Given the description of an element on the screen output the (x, y) to click on. 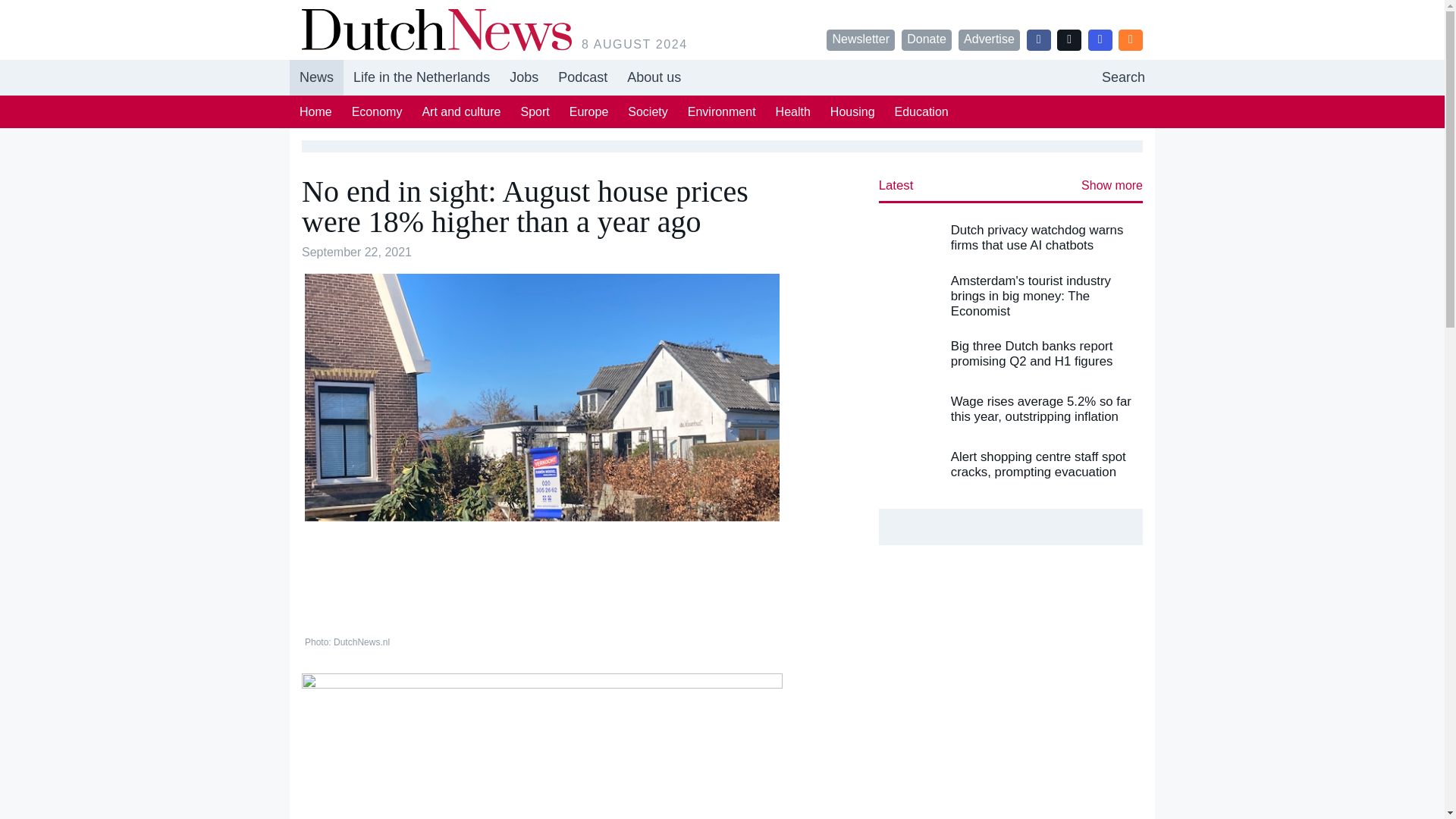
Newsletter (861, 39)
Economy (377, 111)
Search (1123, 77)
Home (315, 111)
Advertise (989, 39)
Jobs (523, 77)
Art and culture (721, 77)
Podcast (461, 111)
Housing (582, 77)
News (853, 111)
Donate (316, 77)
Europe (926, 39)
Society (588, 111)
